Given the description of an element on the screen output the (x, y) to click on. 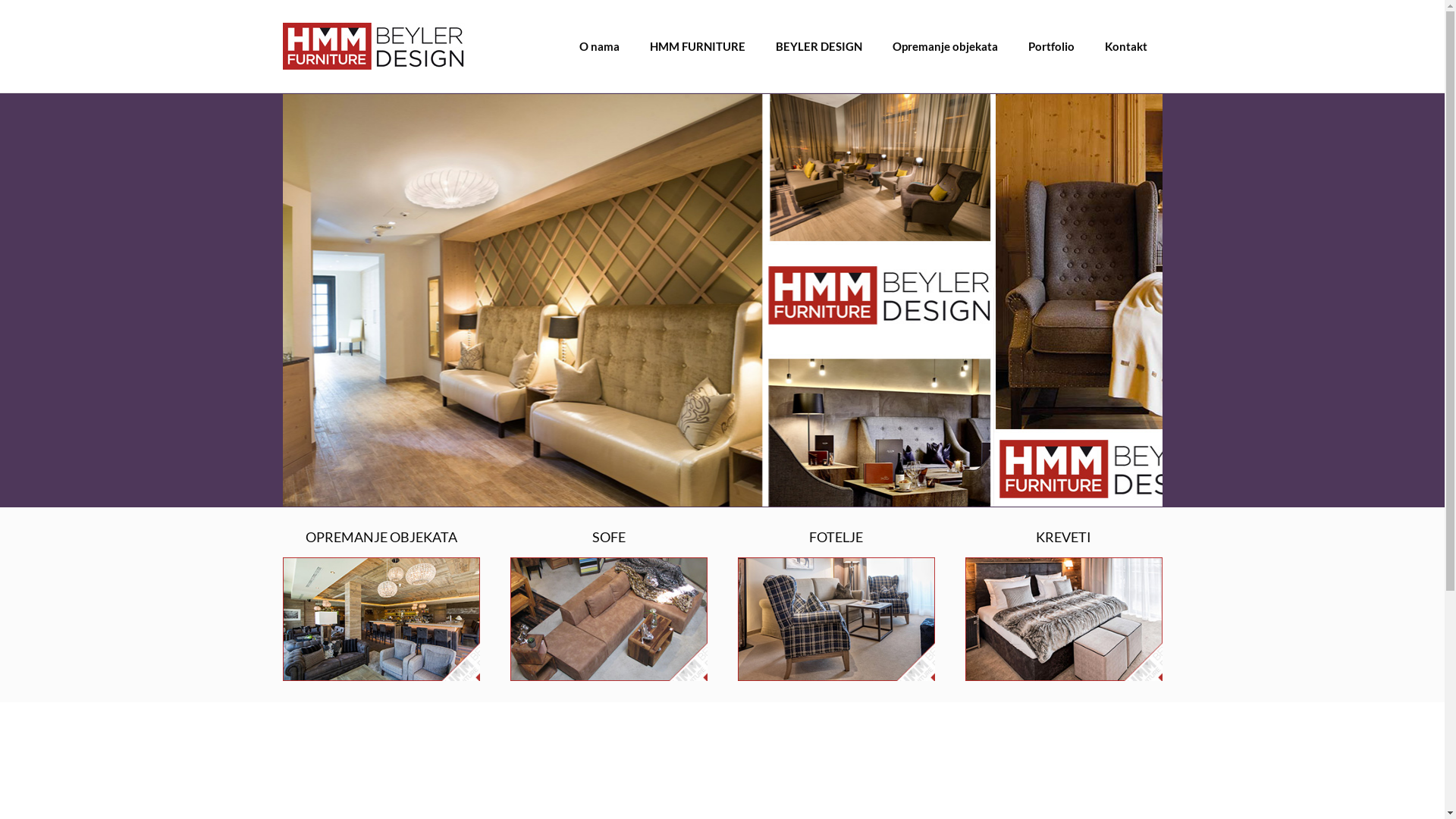
Bosnian Element type: text (1024, 685)
Portfolio Element type: text (1051, 46)
O nama Element type: text (599, 46)
Kontakt Element type: text (1124, 46)
BEYLER DESIGN Element type: text (817, 46)
HMM FURNITURE Element type: text (696, 46)
info@hmm.ba Element type: text (796, 726)
Opremanje objekata Element type: text (944, 46)
